Given the description of an element on the screen output the (x, y) to click on. 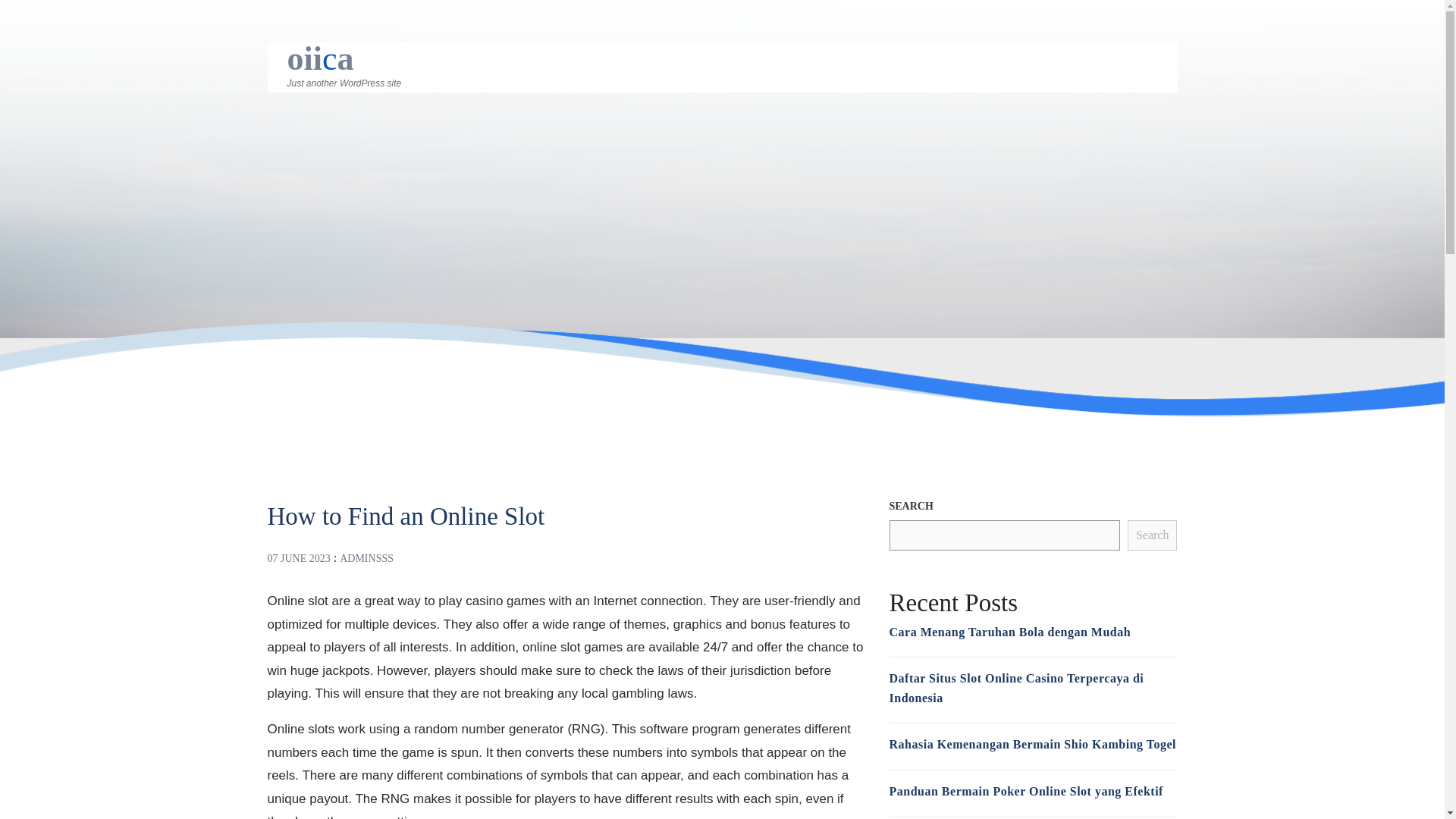
ADMINSSS (366, 558)
Daftar Situs Slot Online Casino Terpercaya di Indonesia (1015, 687)
07 JUNE 2023 (298, 558)
Rahasia Kemenangan Bermain Shio Kambing Togel (1032, 744)
Cara Menang Taruhan Bola dengan Mudah (1009, 631)
Panduan Bermain Poker Online Slot yang Efektif (1024, 790)
Search (1151, 535)
oiica (319, 58)
